Given the description of an element on the screen output the (x, y) to click on. 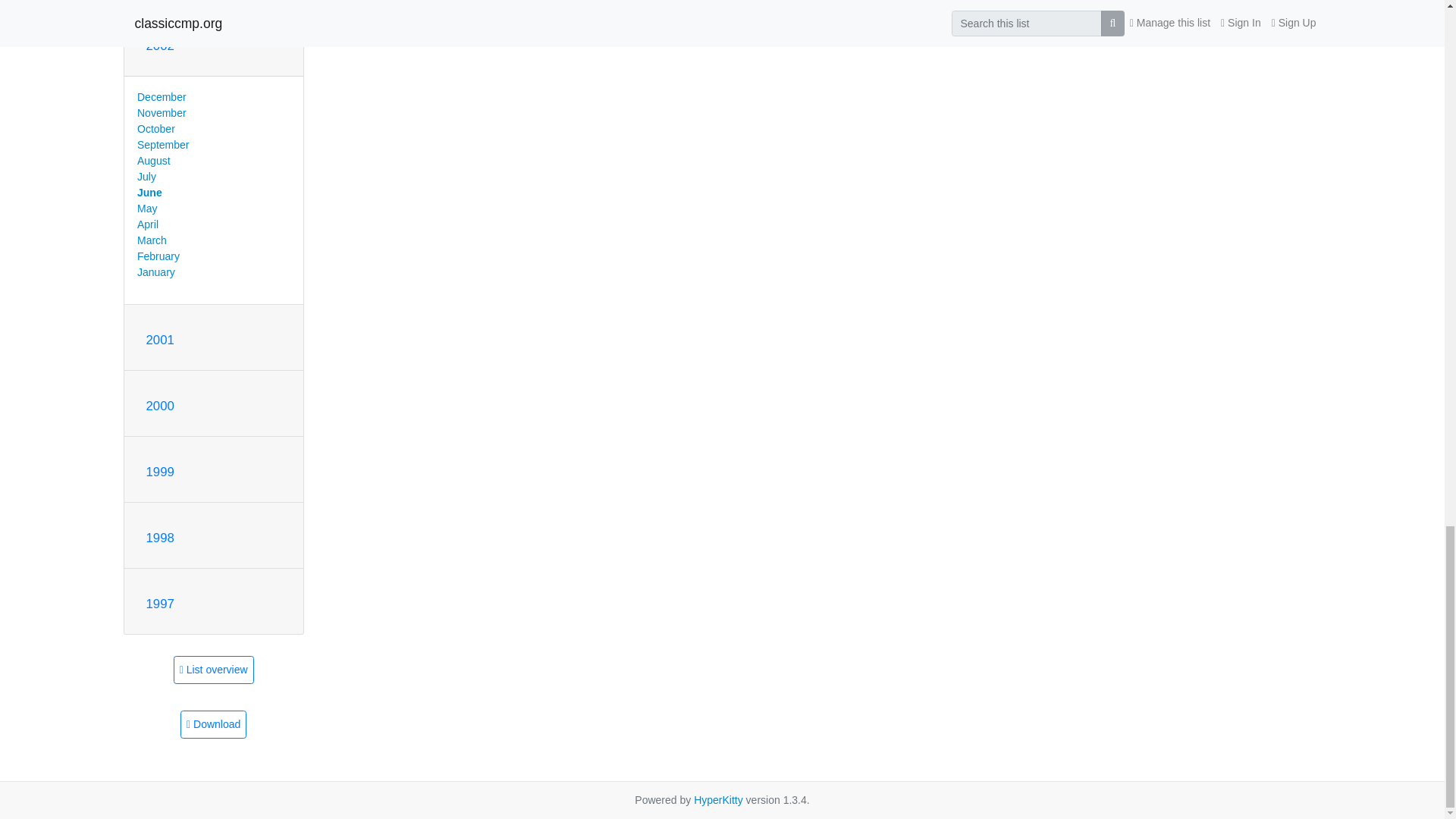
This message in gzipped mbox format (213, 724)
